Given the description of an element on the screen output the (x, y) to click on. 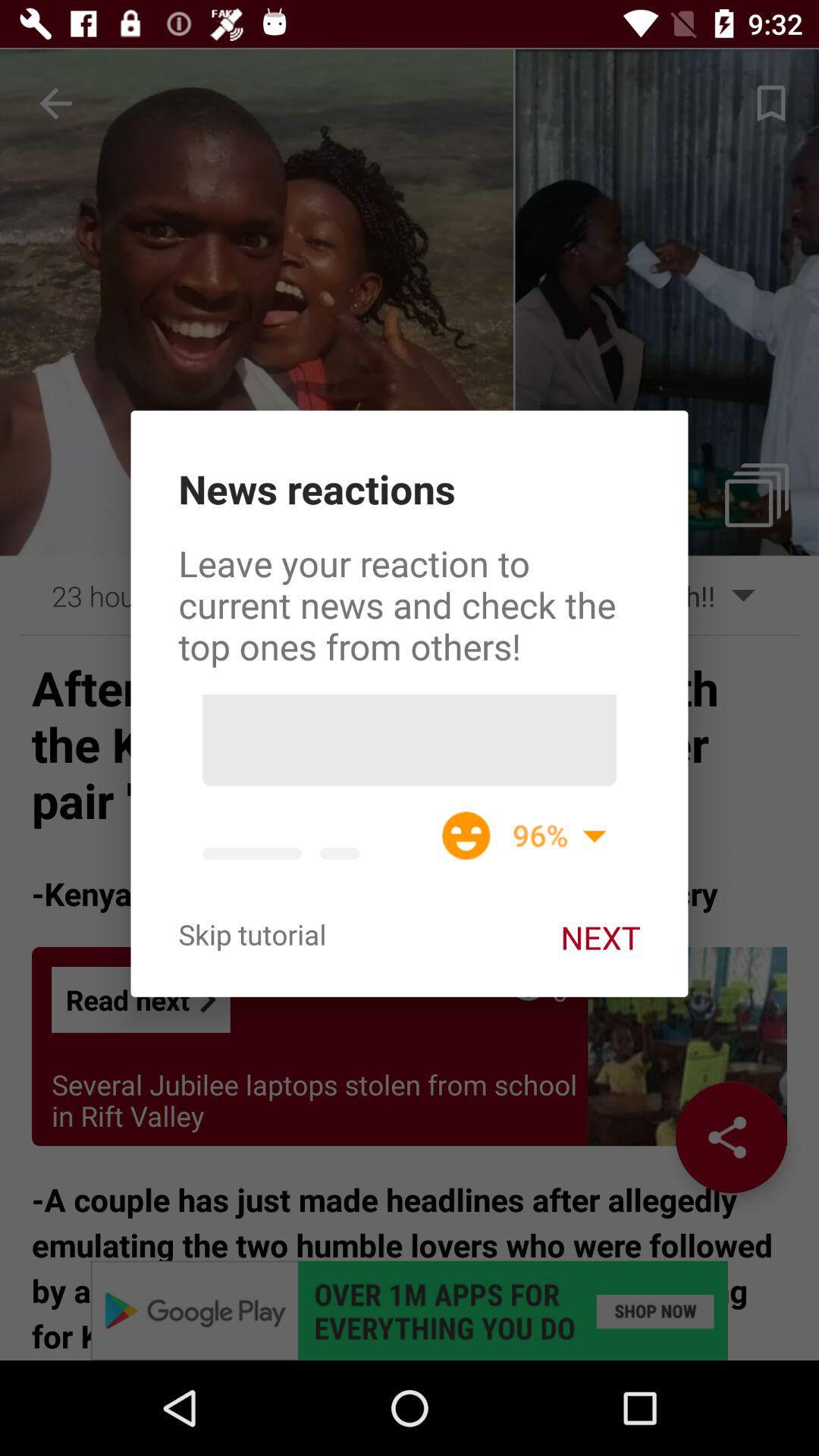
press item next to skip tutorial (600, 936)
